Given the description of an element on the screen output the (x, y) to click on. 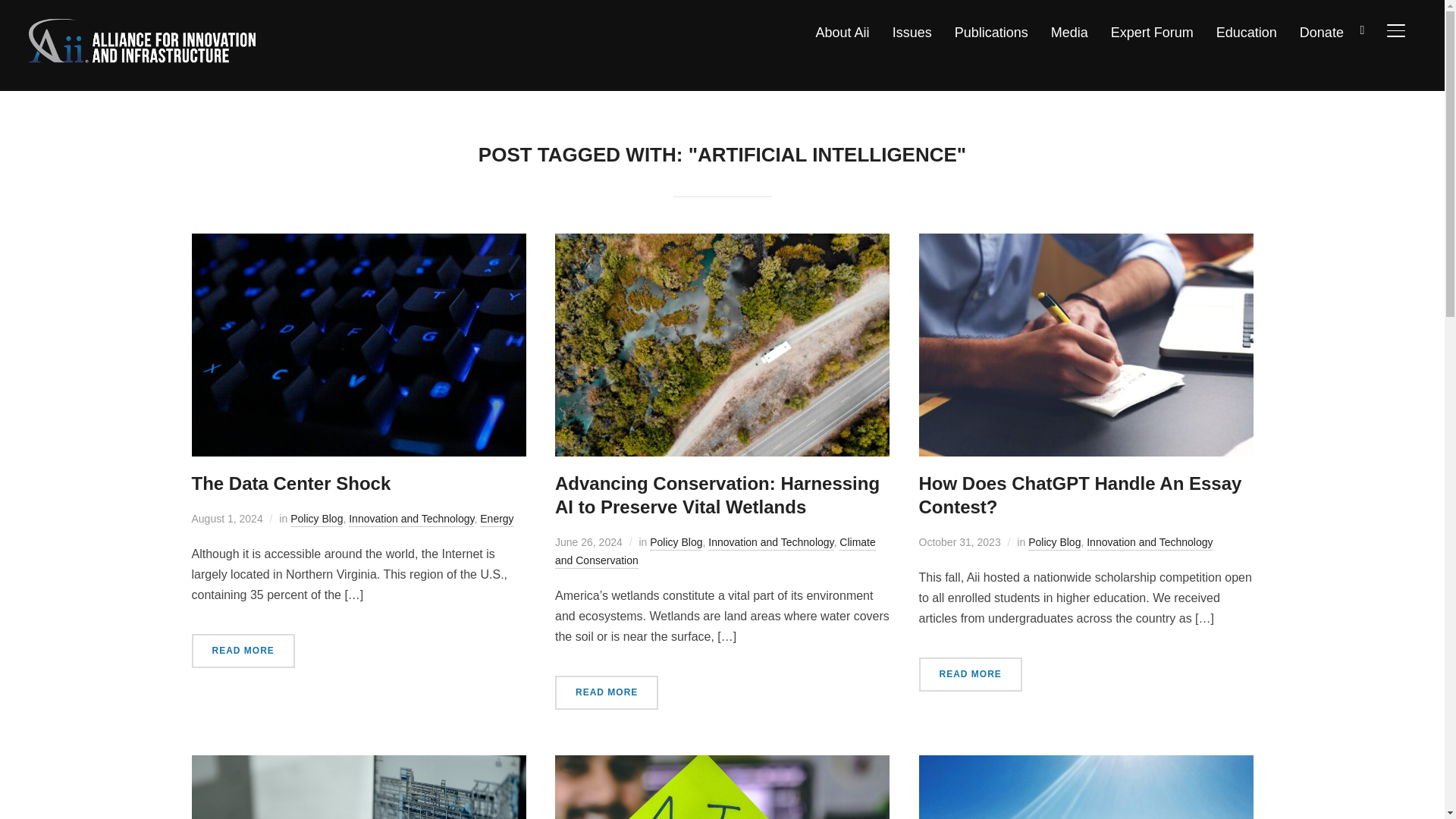
Technology Highlight: Artificial Intelligence (721, 765)
Learn About Drones from Drone Pilots (1085, 765)
How Does ChatGPT Handle An Essay Contest? (1085, 243)
The Data Center Shock (357, 243)
Technology Highlight: AI Applications for Damage Prevention (357, 765)
